Given the description of an element on the screen output the (x, y) to click on. 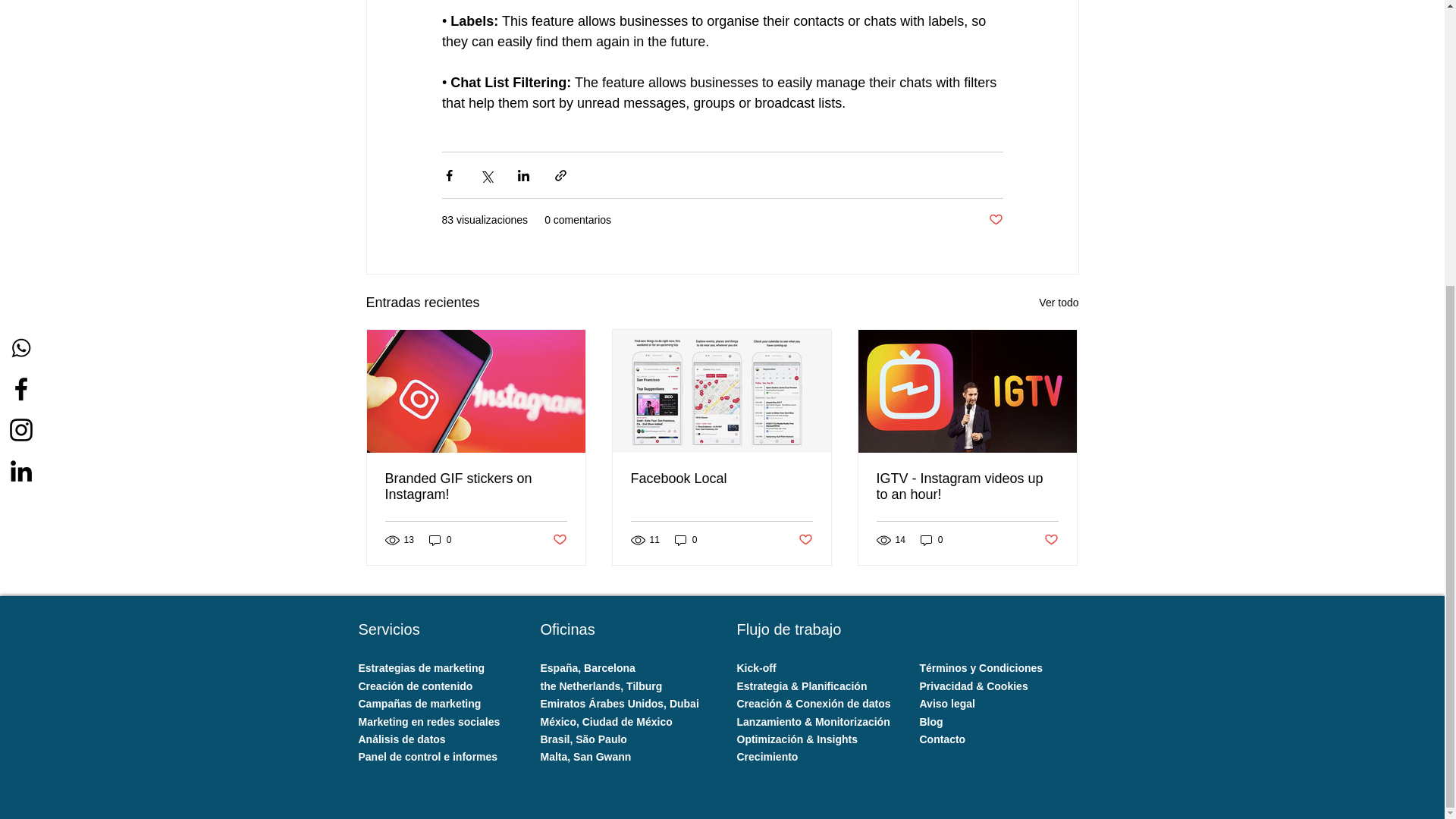
Facebook Local (721, 478)
Entrada no marcada como Me Gusta (1050, 539)
0 (440, 540)
Entrada no marcada como Me Gusta (995, 220)
Aviso legal  (947, 703)
IGTV - Instagram videos up to an hour! (967, 486)
Entrada no marcada como Me Gusta (804, 539)
0 (685, 540)
0 (931, 540)
Entrada no marcada como Me Gusta (558, 539)
Ver todo (1058, 302)
Branded GIF stickers on Instagram! (476, 486)
the Netherlands, Tilburg (601, 686)
